Given the description of an element on the screen output the (x, y) to click on. 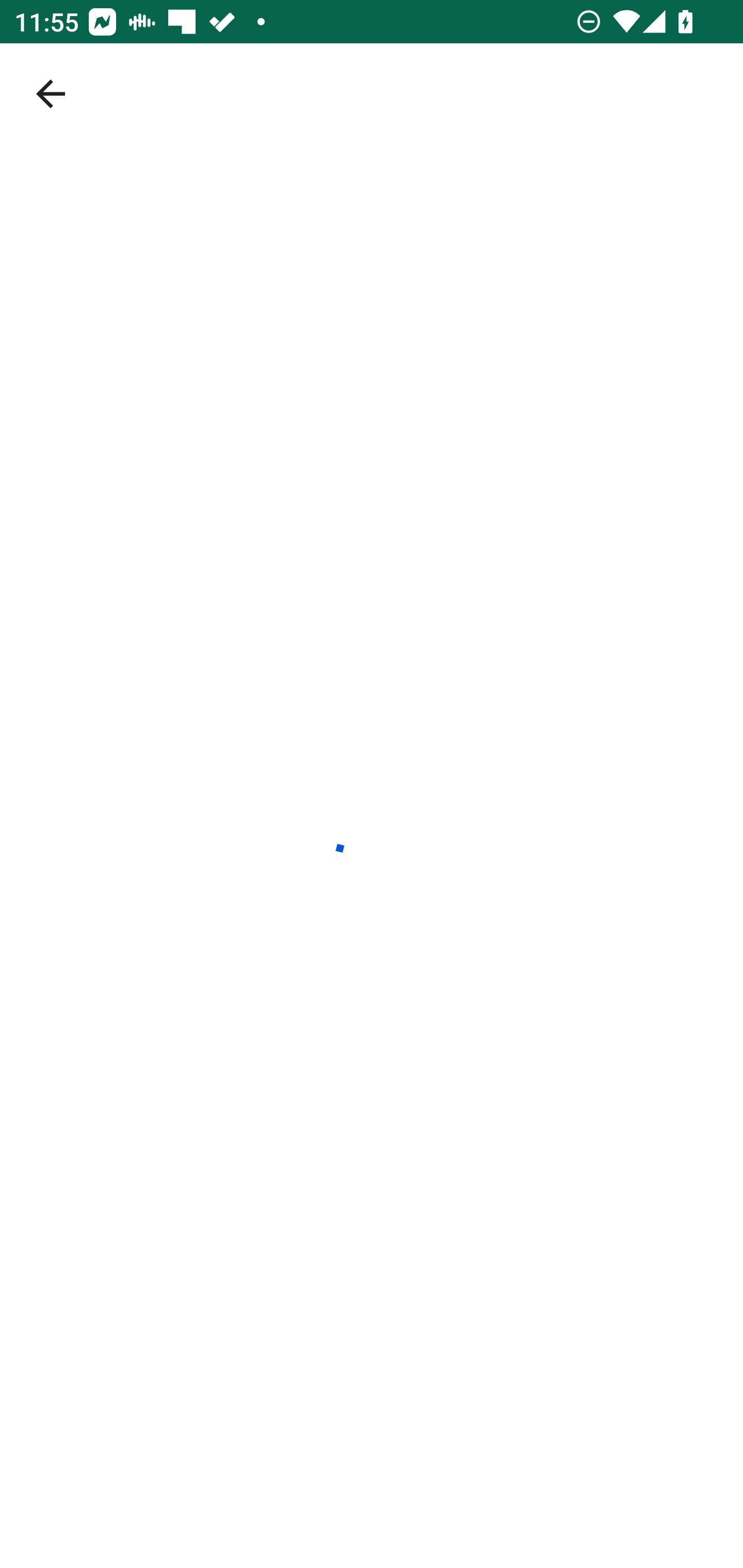
Navigate up (50, 93)
